Given the description of an element on the screen output the (x, y) to click on. 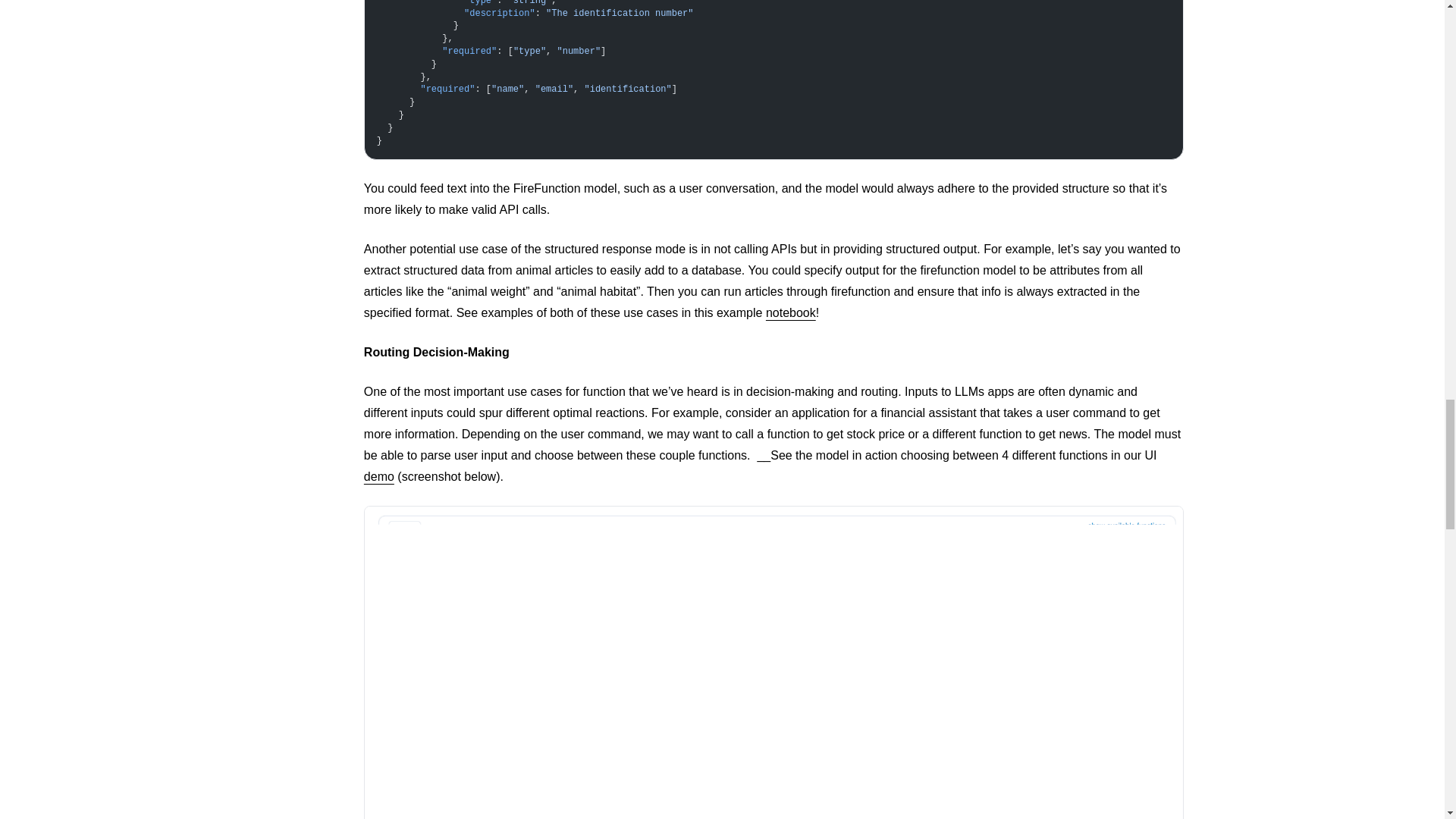
notebook (790, 312)
demo (379, 476)
